Given the description of an element on the screen output the (x, y) to click on. 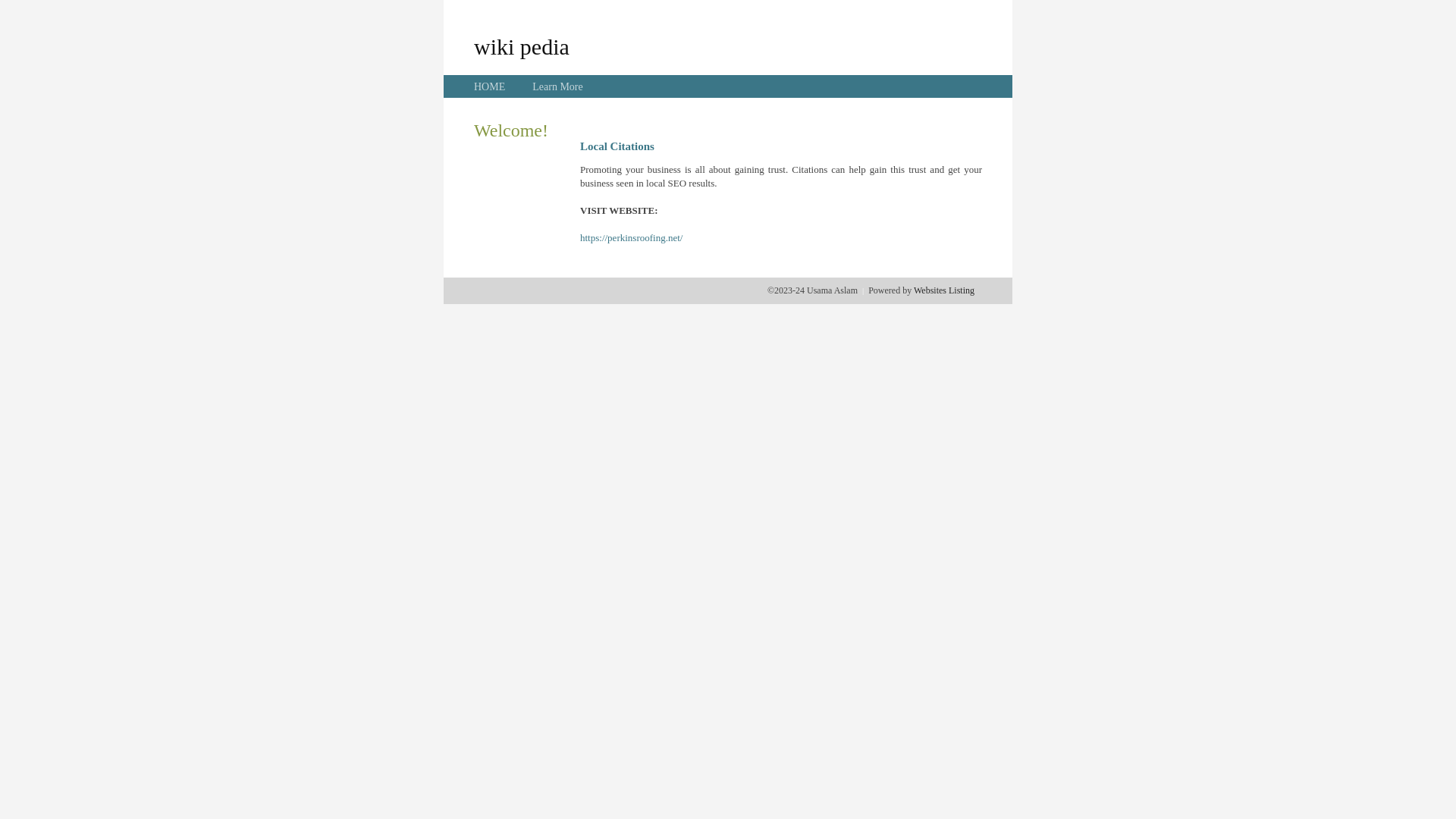
Learn More Element type: text (557, 86)
Websites Listing Element type: text (943, 290)
HOME Element type: text (489, 86)
https://perkinsroofing.net/ Element type: text (631, 237)
wiki pedia Element type: text (521, 46)
